Given the description of an element on the screen output the (x, y) to click on. 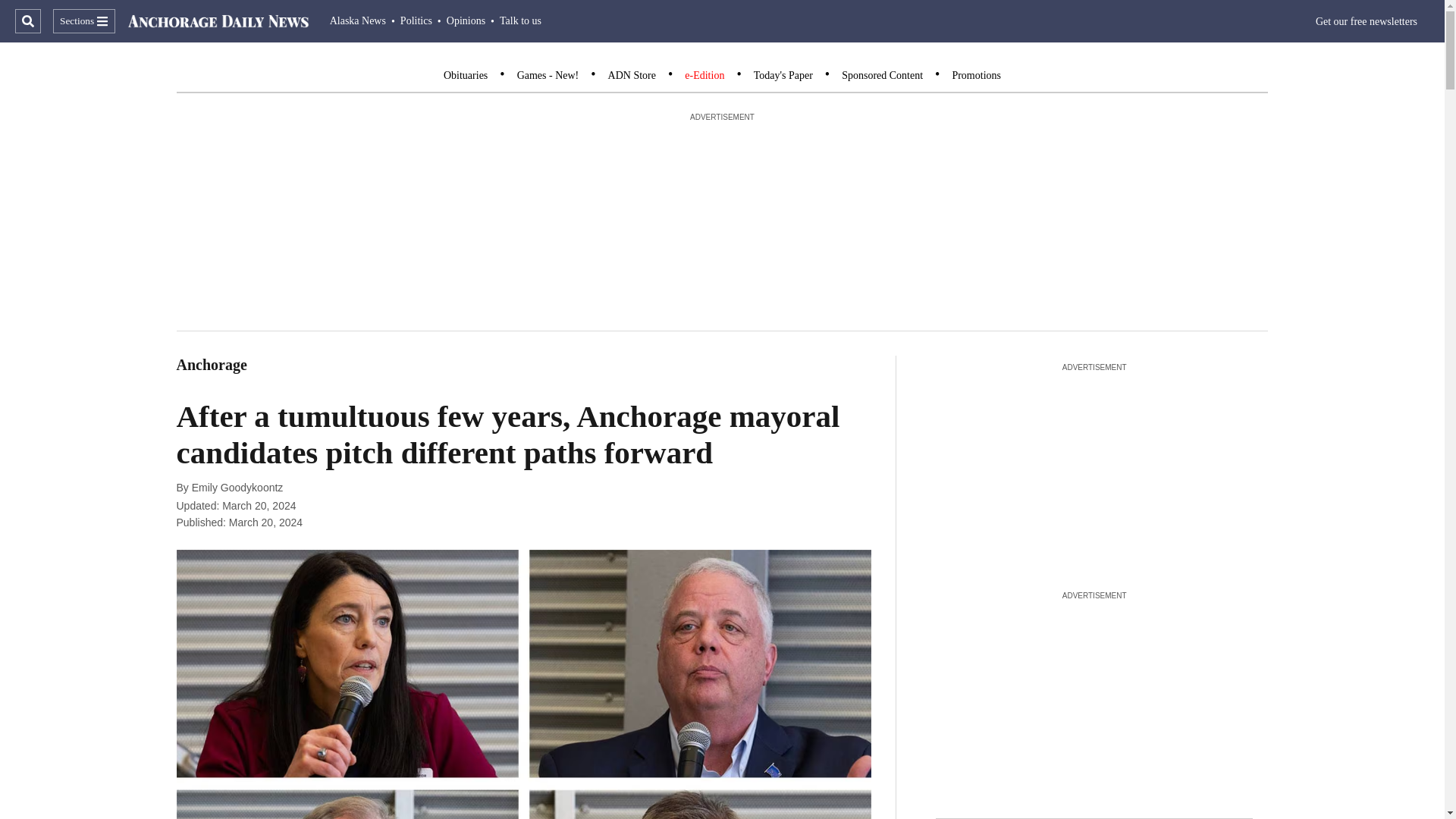
Get our free newsletters (1366, 21)
Politics (416, 20)
ADN Logo (218, 20)
Opinions (465, 20)
Alaska News (357, 20)
Sections (83, 21)
